Given the description of an element on the screen output the (x, y) to click on. 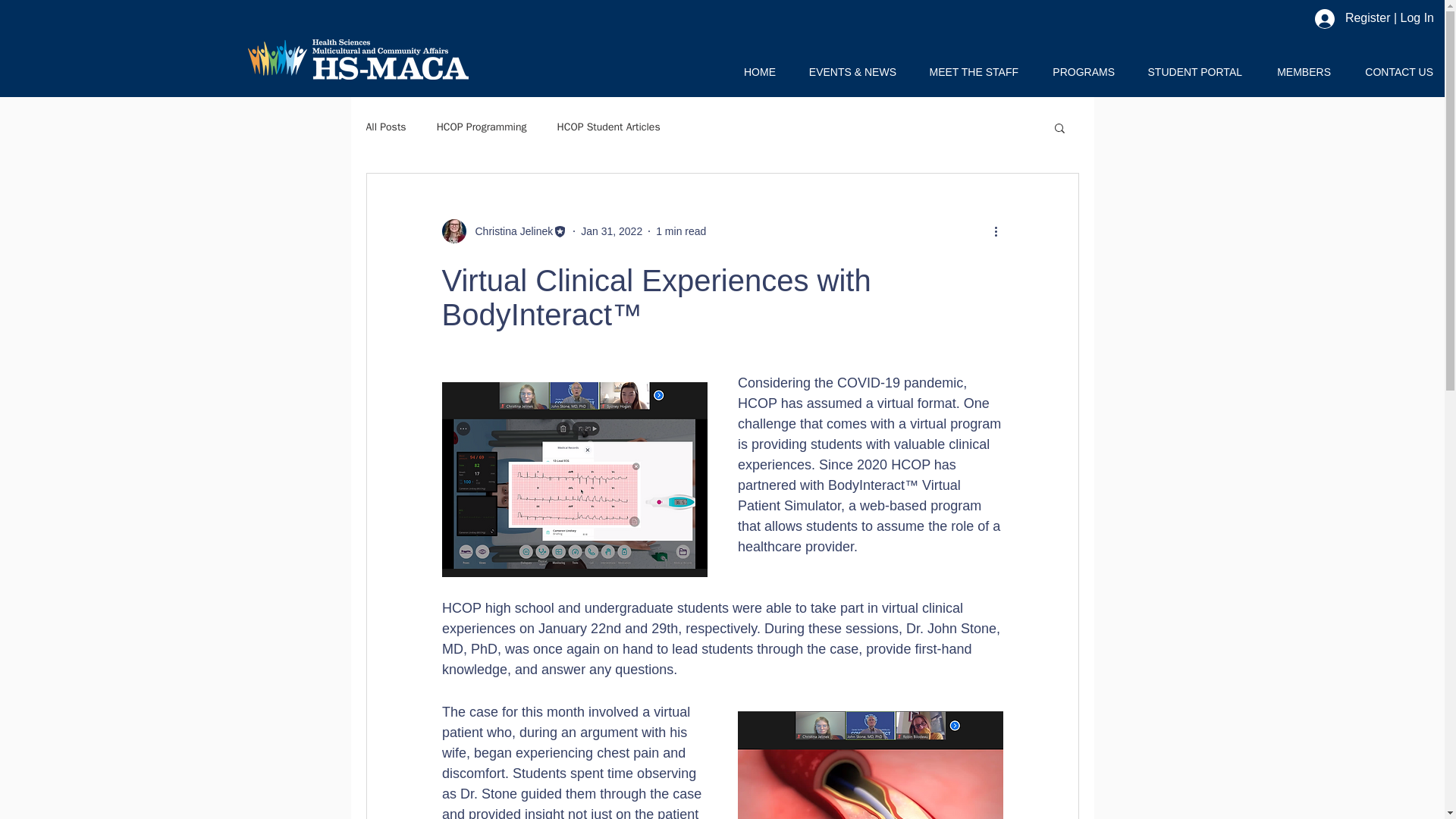
PROGRAMS (1077, 71)
Jan 31, 2022 (611, 230)
Christina Jelinek (504, 231)
HCOP Programming (481, 127)
1 min read (681, 230)
HCOP Student Articles (609, 127)
Christina Jelinek (509, 230)
All Posts (385, 127)
HOME (752, 71)
MEET THE STAFF (968, 71)
